Given the description of an element on the screen output the (x, y) to click on. 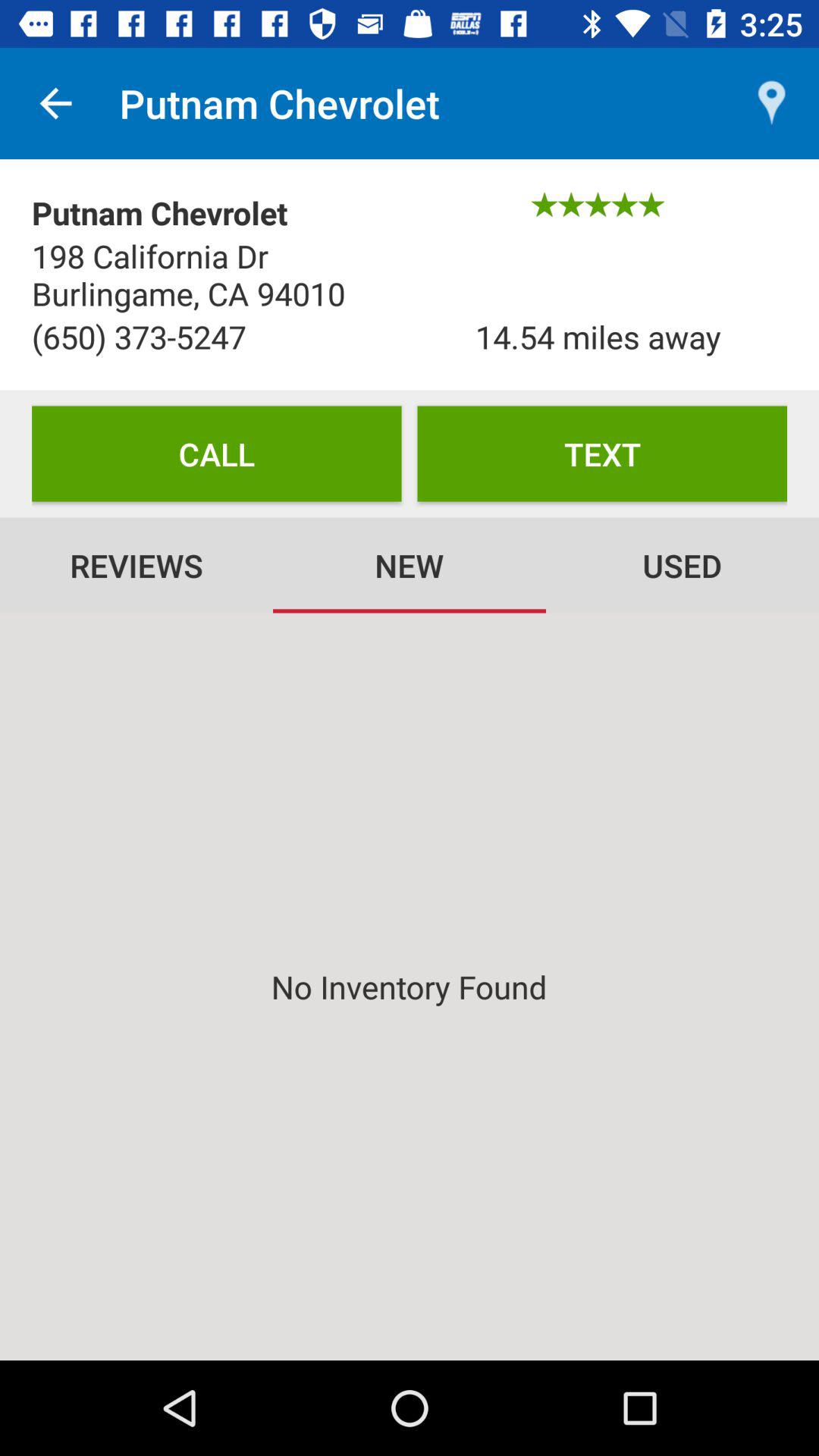
nothing happens (409, 986)
